Given the description of an element on the screen output the (x, y) to click on. 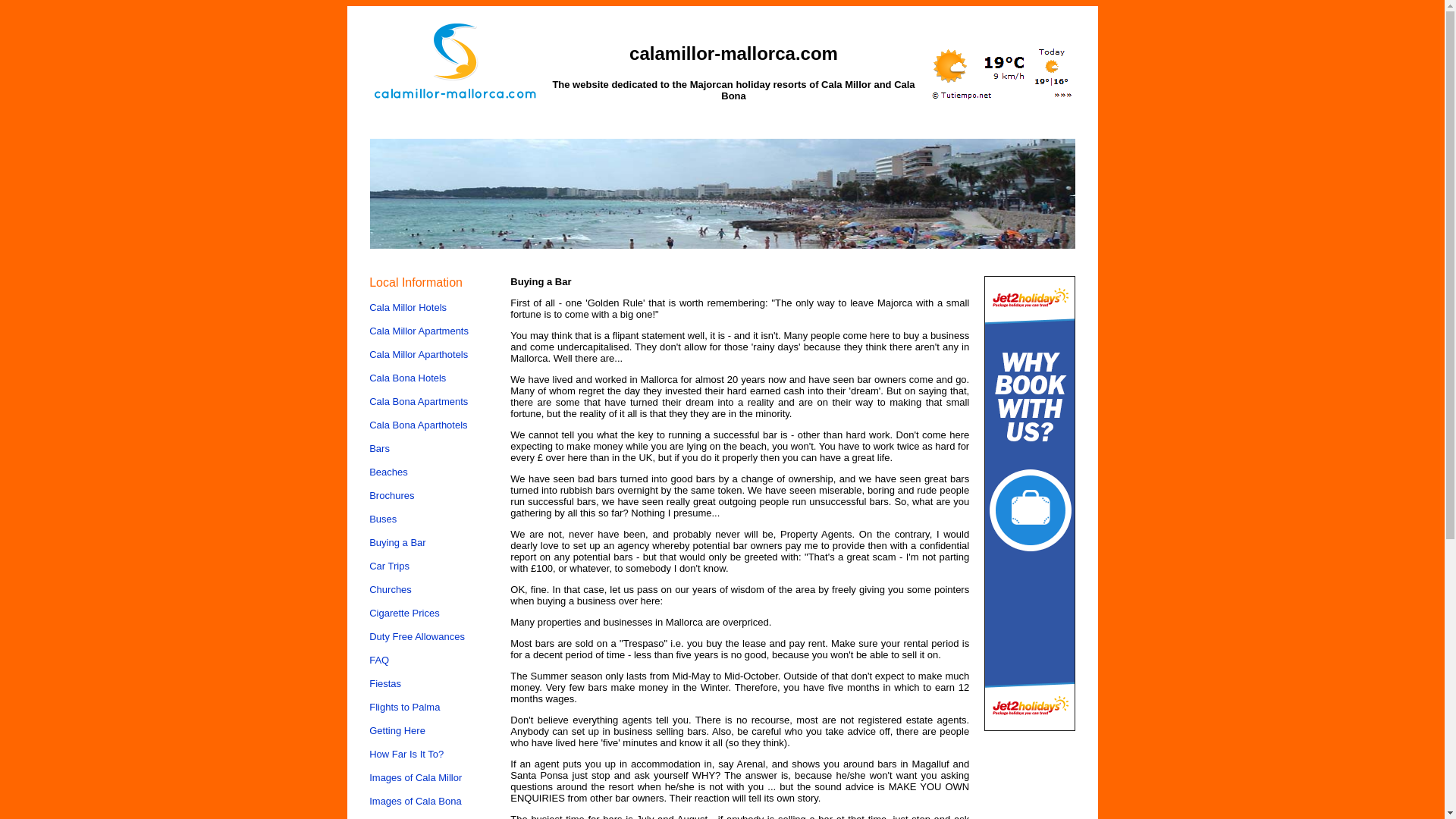
Cala Millor Beaches (388, 471)
Getting Here (397, 730)
Cala Bona Hotels (407, 378)
Cala Millor Churches (390, 589)
Cala Millor Aparthotels (418, 354)
Images of Cala Bona (415, 800)
Home (416, 282)
Cala Bona Aparthotels (418, 424)
Cala Millor Aparthotels (418, 354)
Cala Bona Hotels (407, 378)
Flights To Palma (404, 706)
Beaches (388, 471)
Cala Bona Apartments (418, 401)
Cala Millor Bars (379, 448)
Frequently Asked Questions About Cala Millor (378, 659)
